Given the description of an element on the screen output the (x, y) to click on. 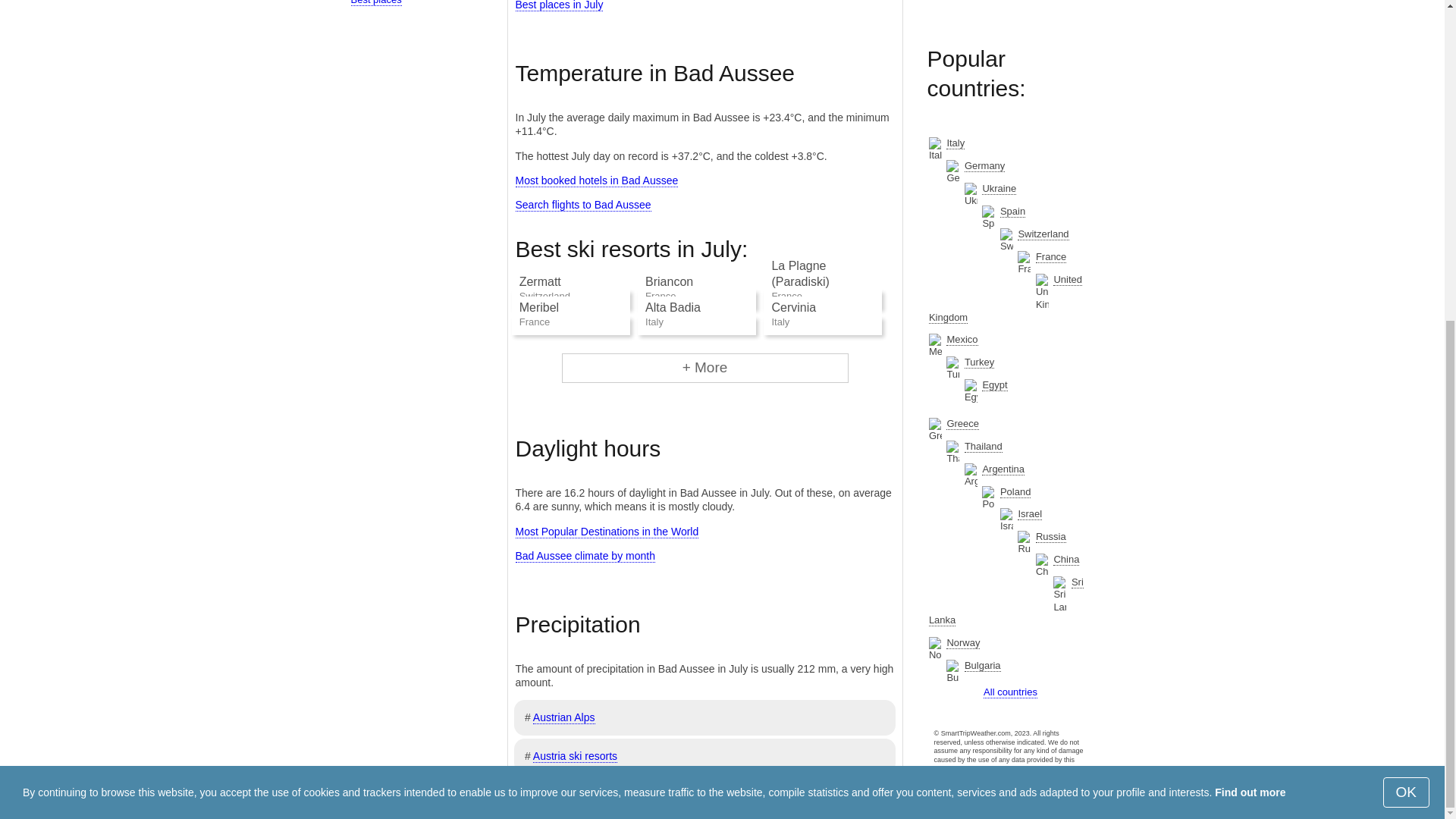
OK (1406, 272)
Briancon (669, 281)
Italy (954, 143)
Austrian Alps (563, 717)
Spain (1012, 211)
France (1050, 256)
Bad Aussee climate by month (585, 555)
Most booked hotels in Bad Aussee (596, 180)
Egypt (994, 385)
Turkey (978, 362)
Cervinia (793, 307)
Meribel (539, 307)
Find out more (1249, 272)
Mexico (961, 339)
Greece (962, 423)
